Given the description of an element on the screen output the (x, y) to click on. 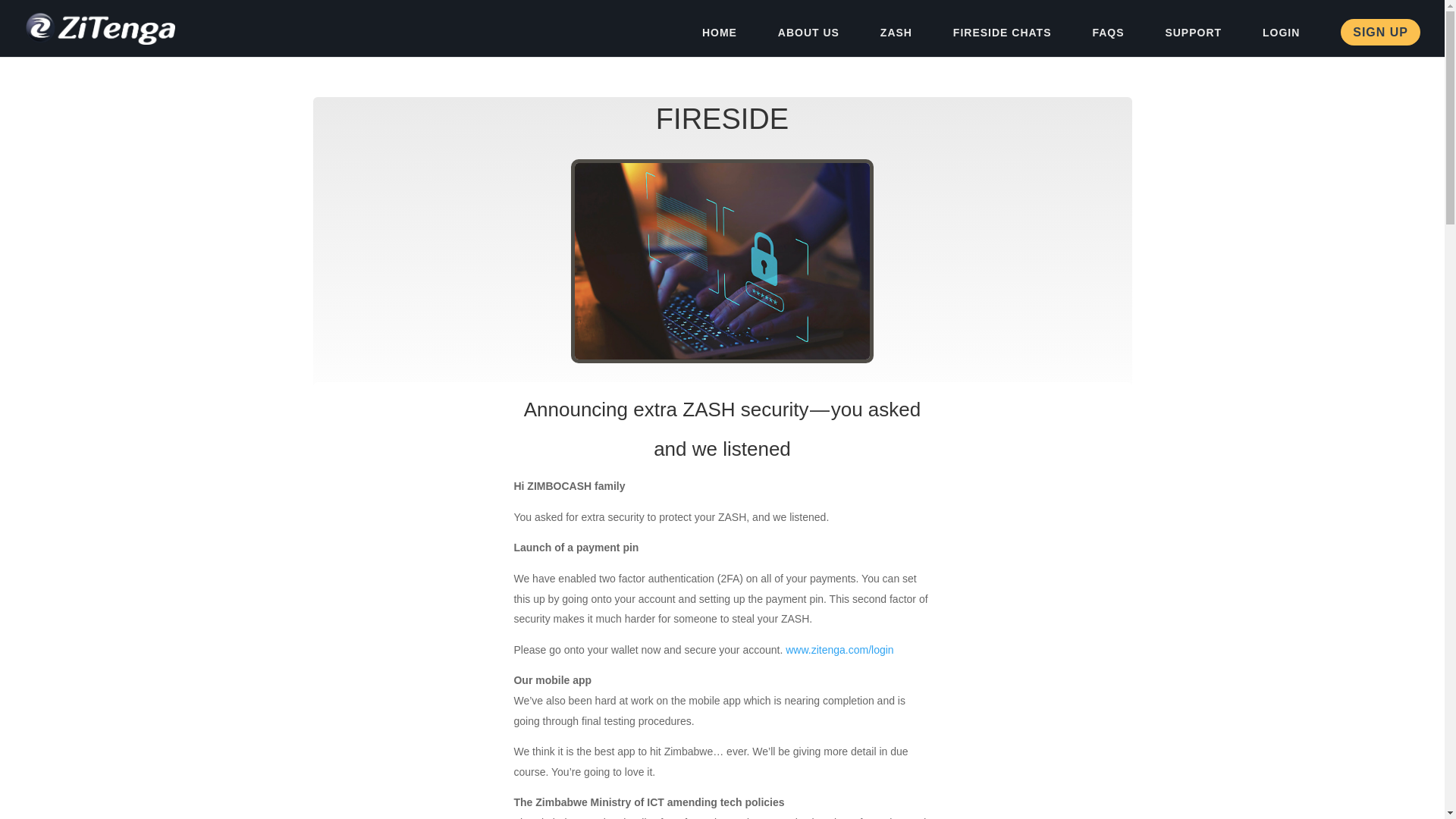
FAQS (1108, 41)
LOGIN (1281, 41)
FIRESIDE CHATS (1002, 41)
SUPPORT (1192, 41)
ABOUT US (808, 41)
HOME (718, 41)
SIGN UP (1380, 31)
ZASH (896, 41)
